Given the description of an element on the screen output the (x, y) to click on. 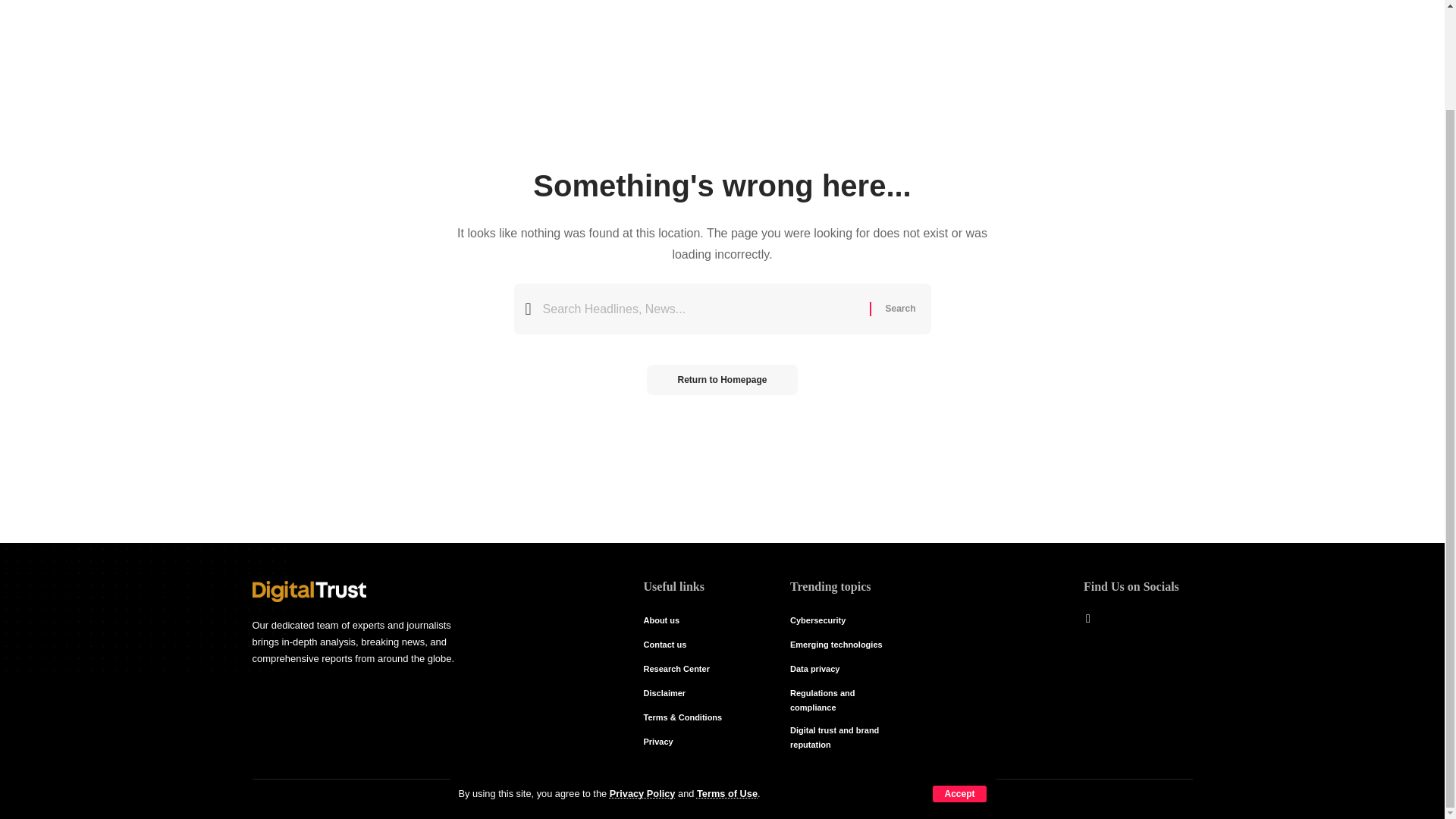
Accept (959, 677)
Terms of Use (727, 677)
Search (899, 308)
Privacy Policy (642, 677)
